Given the description of an element on the screen output the (x, y) to click on. 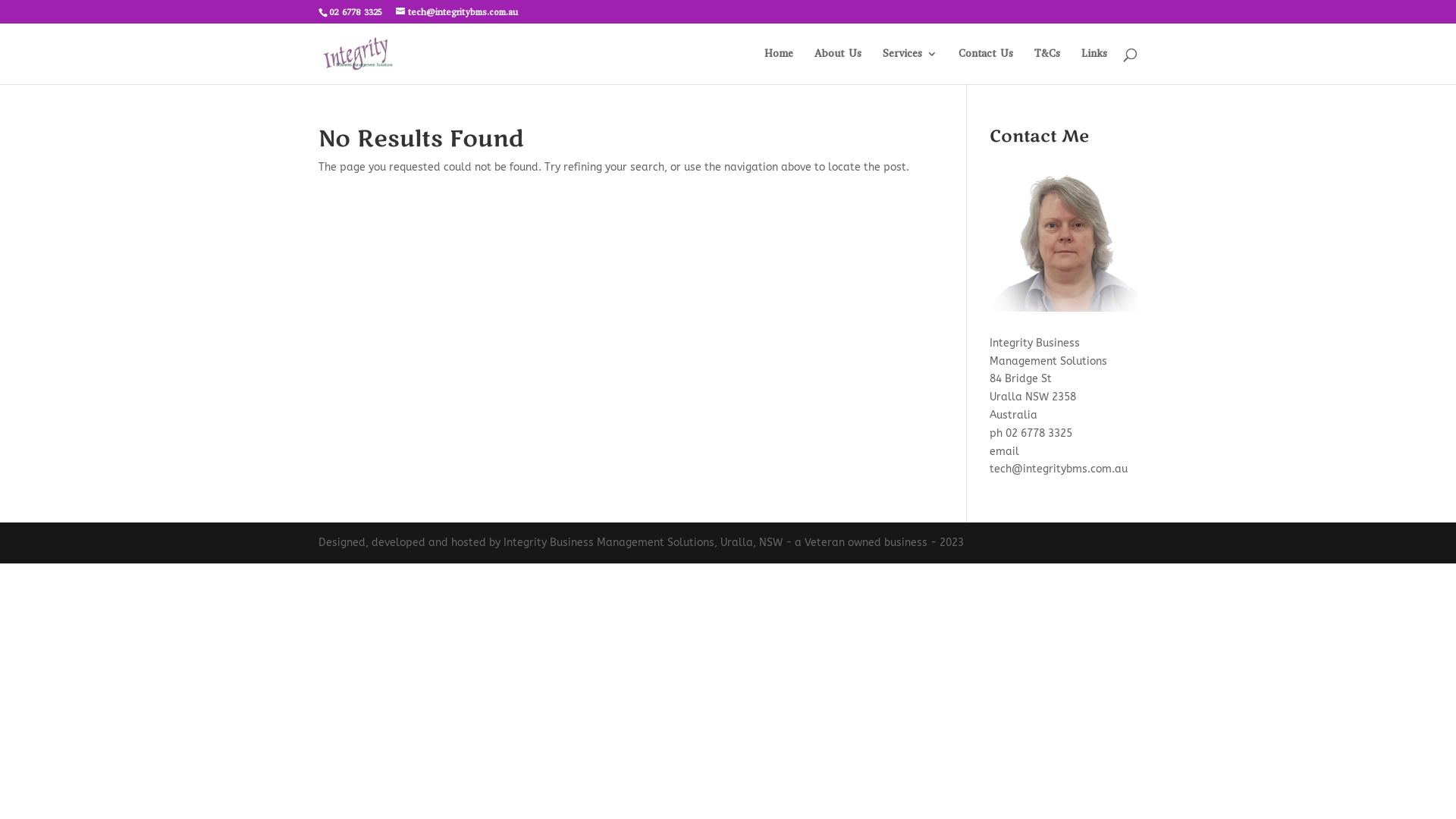
T&Cs Element type: text (1047, 66)
Home Element type: text (778, 66)
Services Element type: text (909, 66)
Links Element type: text (1094, 66)
About Us Element type: text (837, 66)
tech@integritybms.com.au Element type: text (456, 12)
Contact Us Element type: text (985, 66)
